Given the description of an element on the screen output the (x, y) to click on. 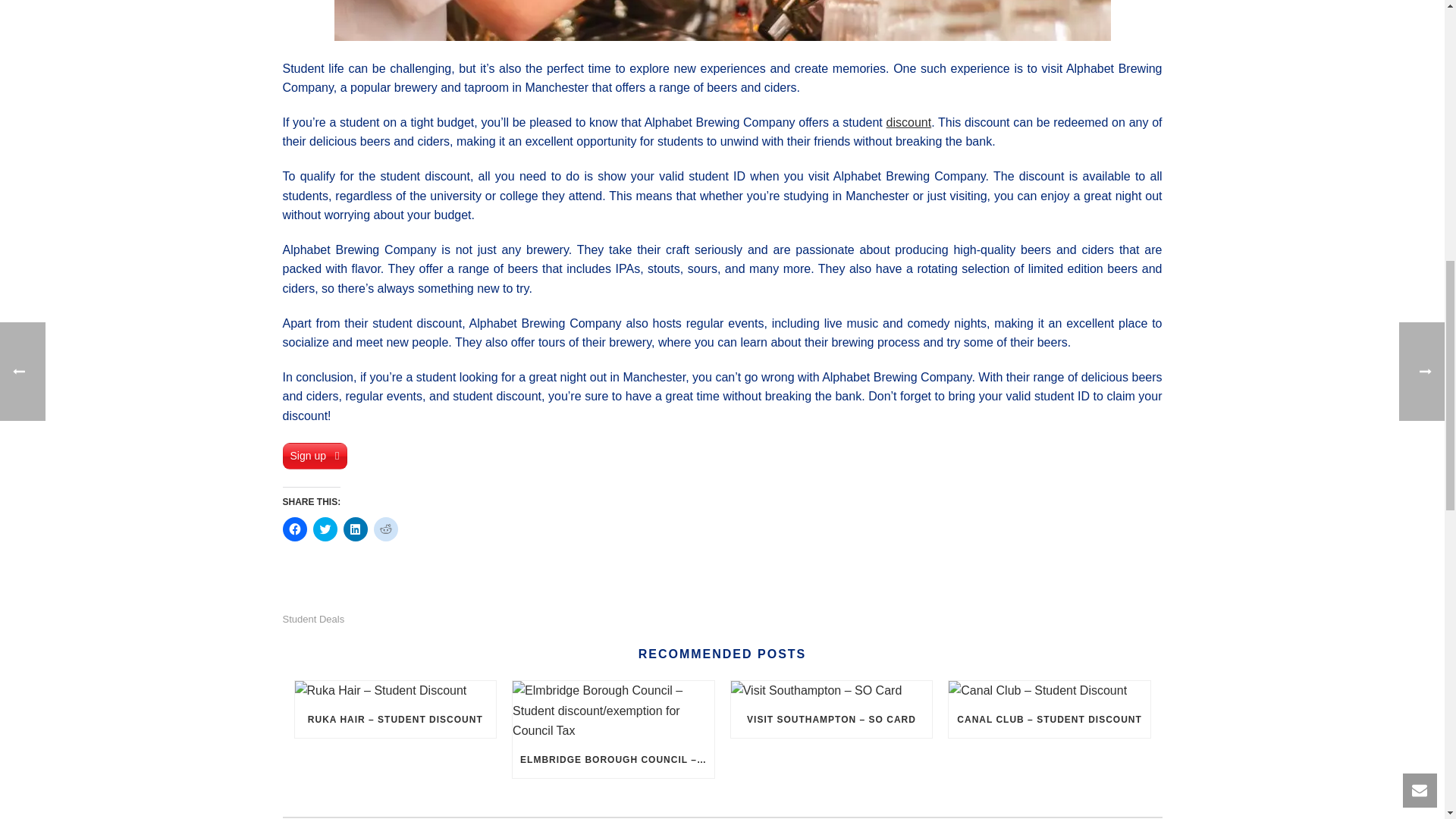
Click to share on Twitter (324, 528)
Sign up (314, 456)
Click to share on Reddit (384, 528)
Click to share on Facebook (293, 528)
Click to share on LinkedIn (354, 528)
discount (908, 122)
